Given the description of an element on the screen output the (x, y) to click on. 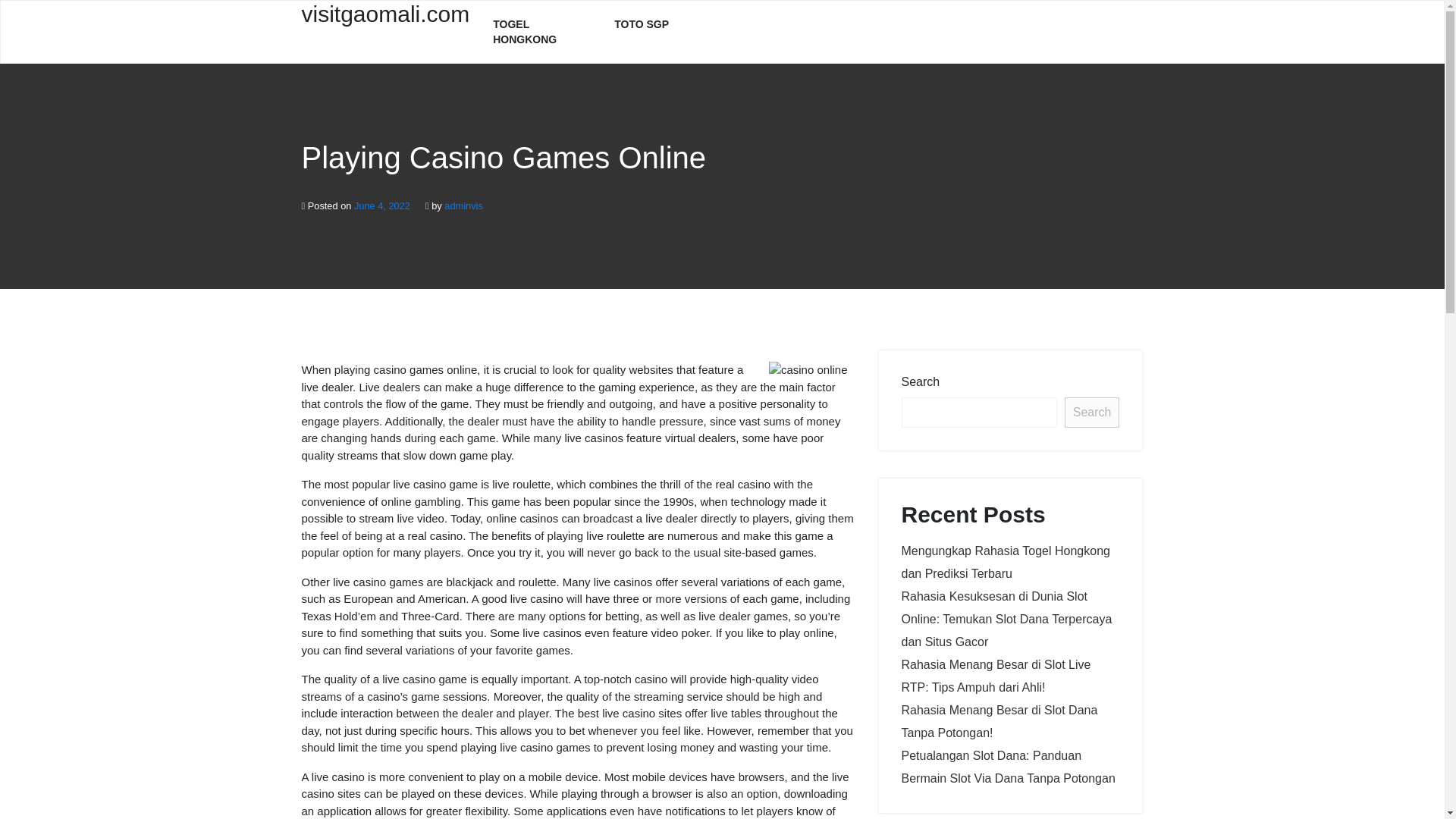
TOTO SGP (641, 23)
adminvis (463, 205)
Togel Hongkong (541, 31)
Search (1091, 412)
June 4, 2022 (381, 205)
Toto Sgp (641, 23)
Rahasia Menang Besar di Slot Live RTP: Tips Ampuh dari Ahli! (995, 675)
Mengungkap Rahasia Togel Hongkong dan Prediksi Terbaru (1005, 561)
visitgaomali.com (385, 22)
Rahasia Menang Besar di Slot Dana Tanpa Potongan! (999, 721)
TOGEL HONGKONG (541, 31)
